Given the description of an element on the screen output the (x, y) to click on. 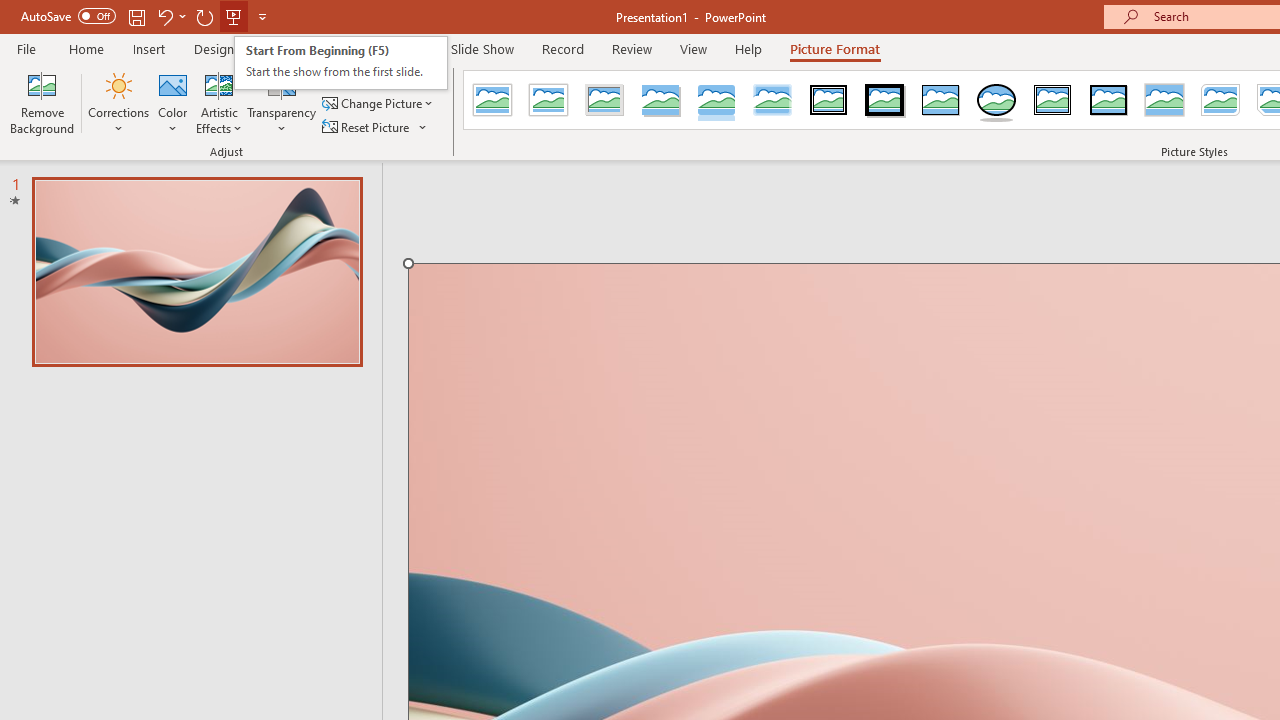
Help (748, 48)
Insert (149, 48)
Moderate Frame, Black (1108, 100)
Undo (170, 15)
Reset Picture (367, 126)
View (693, 48)
Slide (196, 271)
Color (173, 102)
Reset Picture (375, 126)
Redo (204, 15)
Center Shadow Rectangle (1164, 100)
System (10, 11)
System (10, 11)
Simple Frame, Black (940, 100)
